Given the description of an element on the screen output the (x, y) to click on. 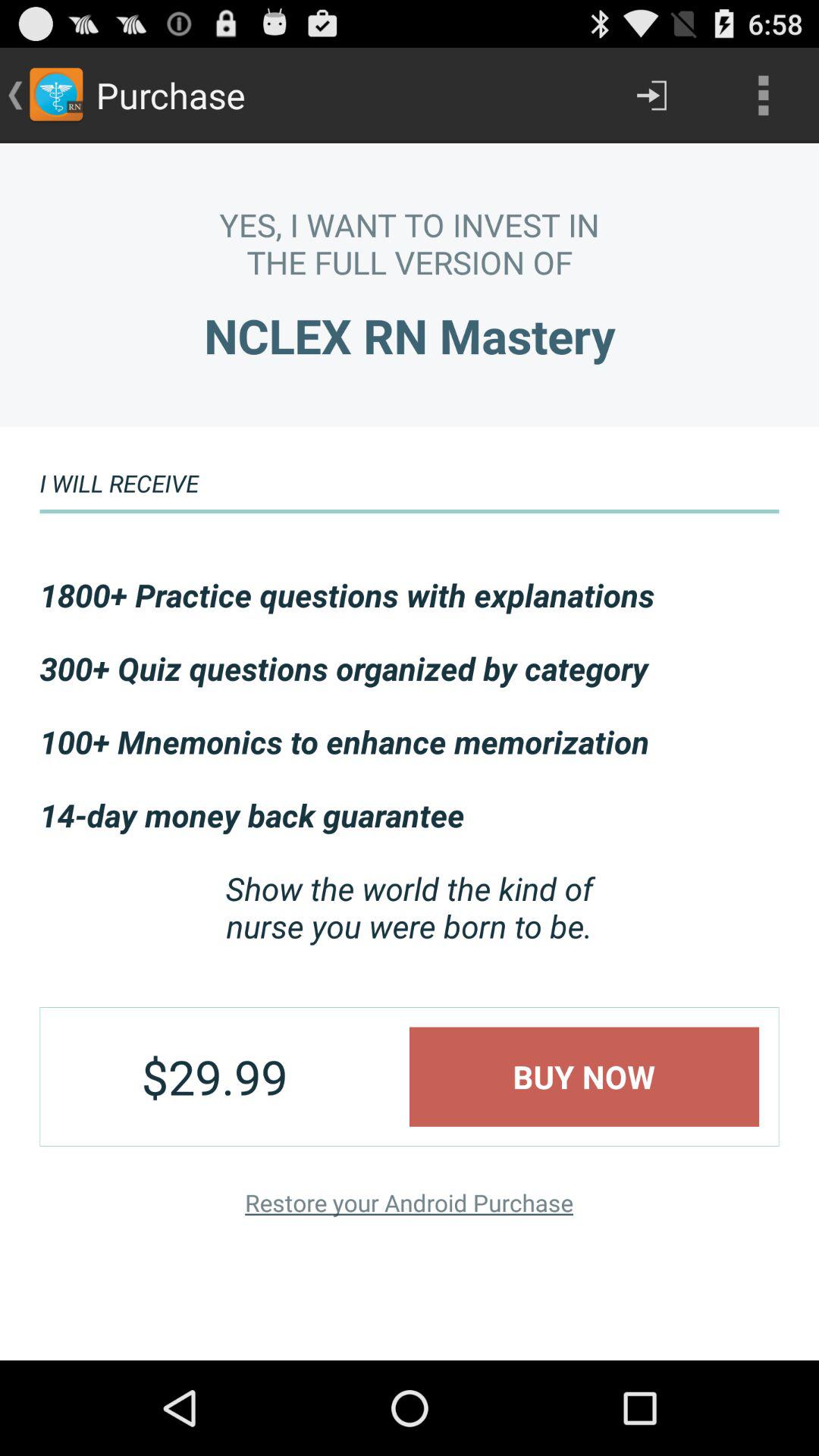
press app to the right of the $29.99 app (584, 1076)
